Given the description of an element on the screen output the (x, y) to click on. 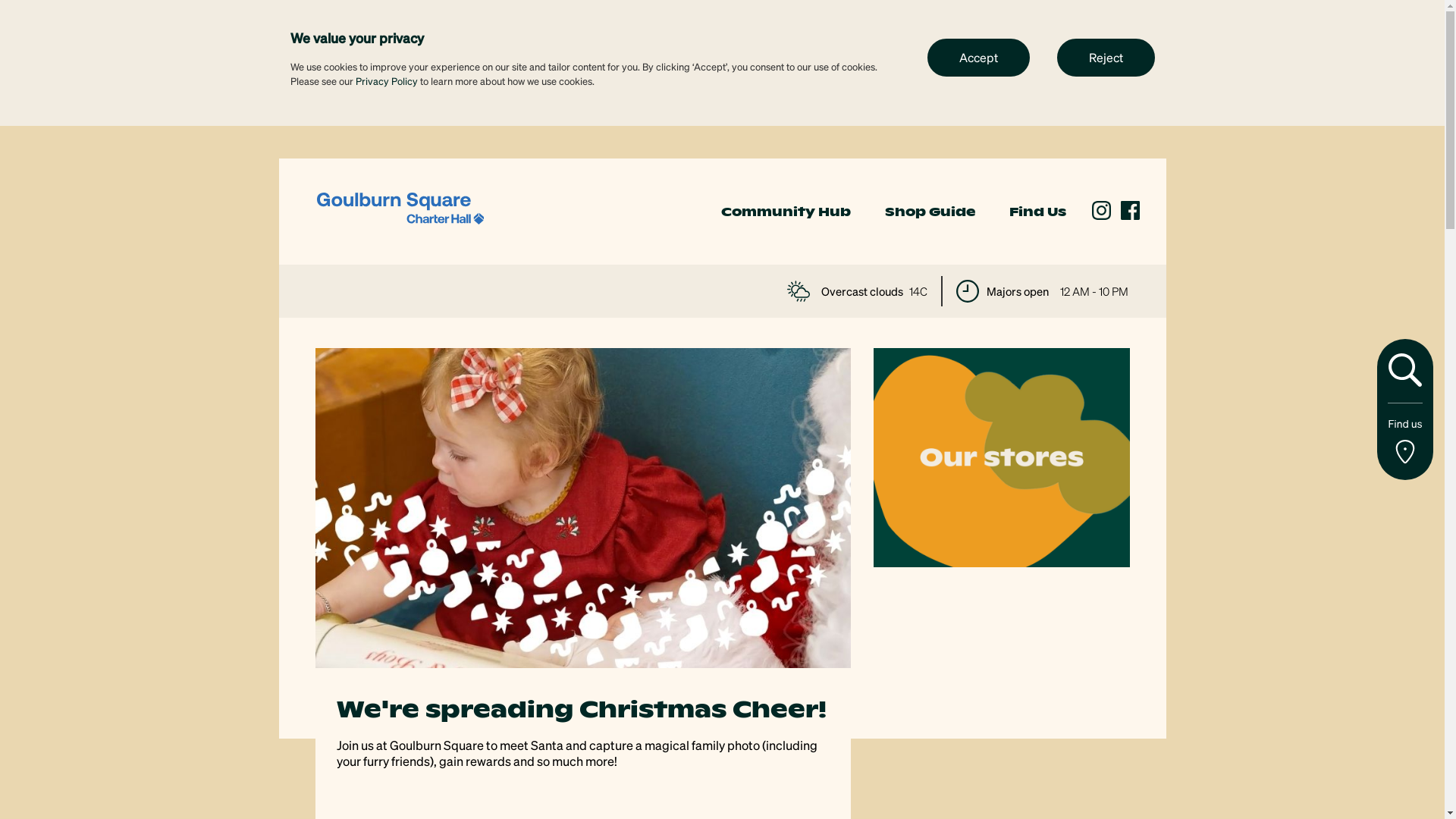
instagram Element type: hover (1101, 209)
Find Us Element type: text (1036, 211)
time Element type: hover (966, 290)
Shop Guide Element type: text (929, 211)
Privacy Policy Element type: text (385, 80)
Accept Element type: text (977, 56)
facebook Element type: hover (1129, 209)
majors open
12 AM - 10 PM Element type: text (1041, 290)
Reject Element type: text (1105, 56)
Community Hub Element type: text (785, 211)
